Given the description of an element on the screen output the (x, y) to click on. 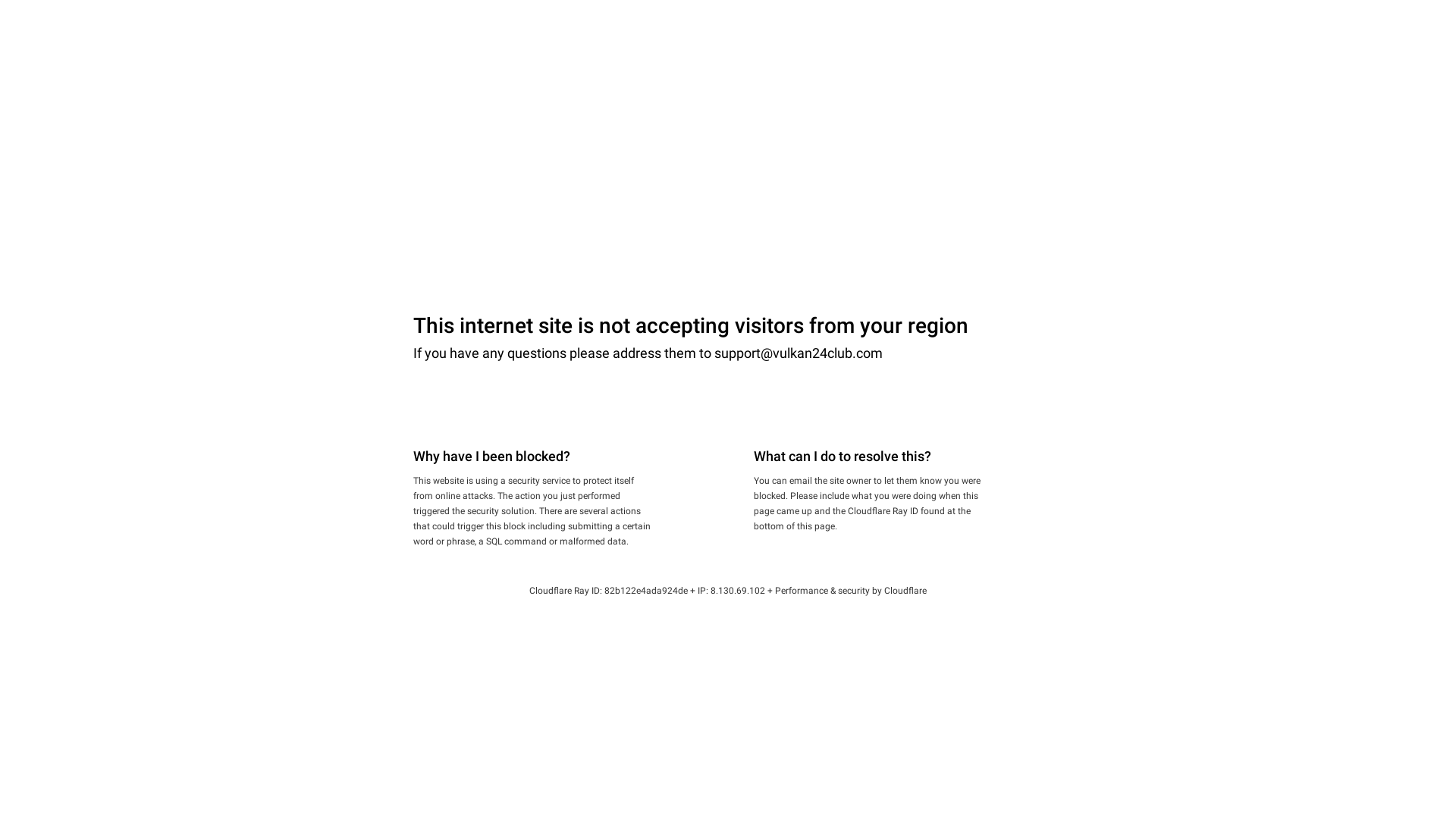
Cloudflare Element type: text (905, 590)
